Given the description of an element on the screen output the (x, y) to click on. 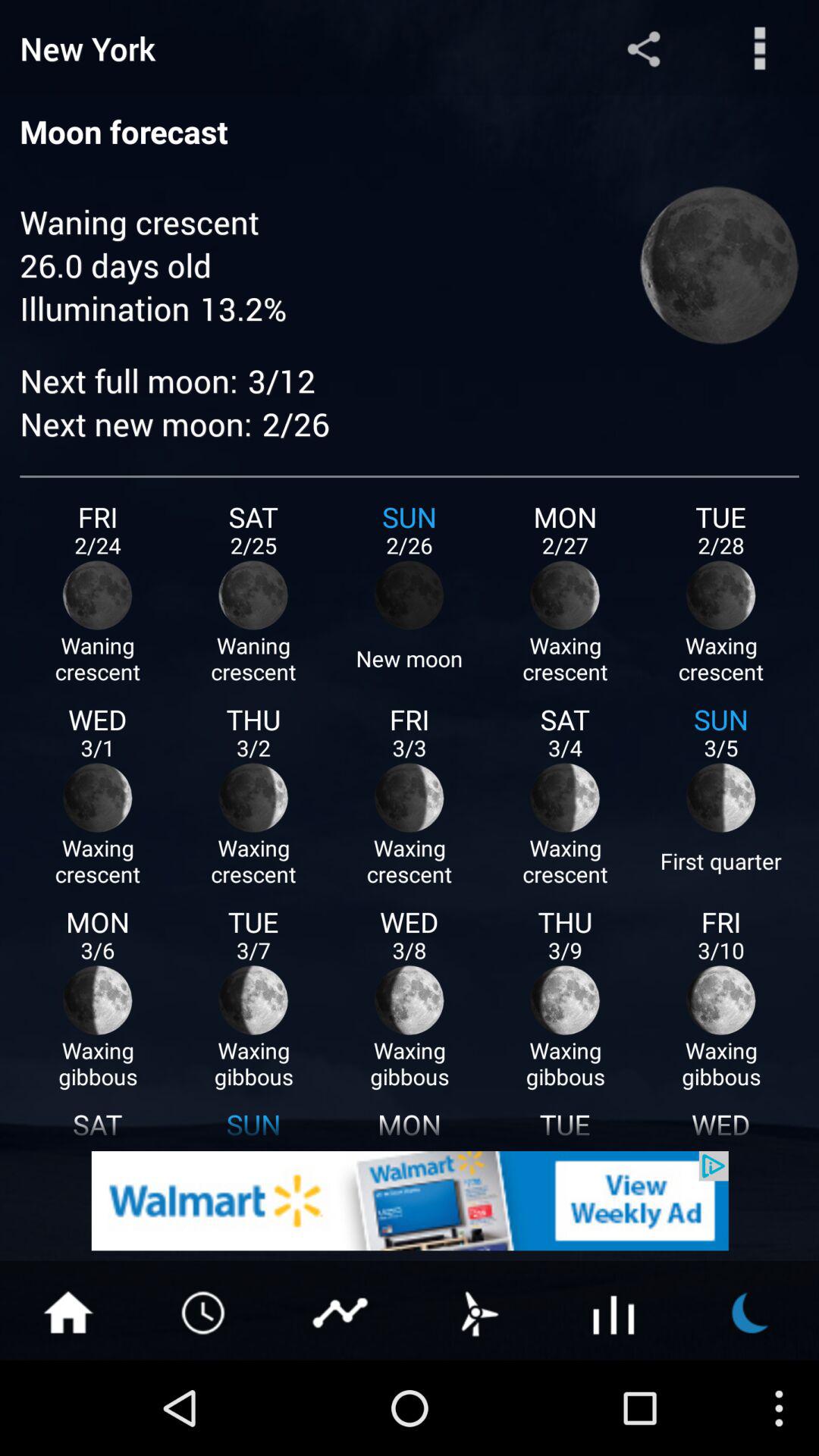
graph (341, 1311)
